Given the description of an element on the screen output the (x, y) to click on. 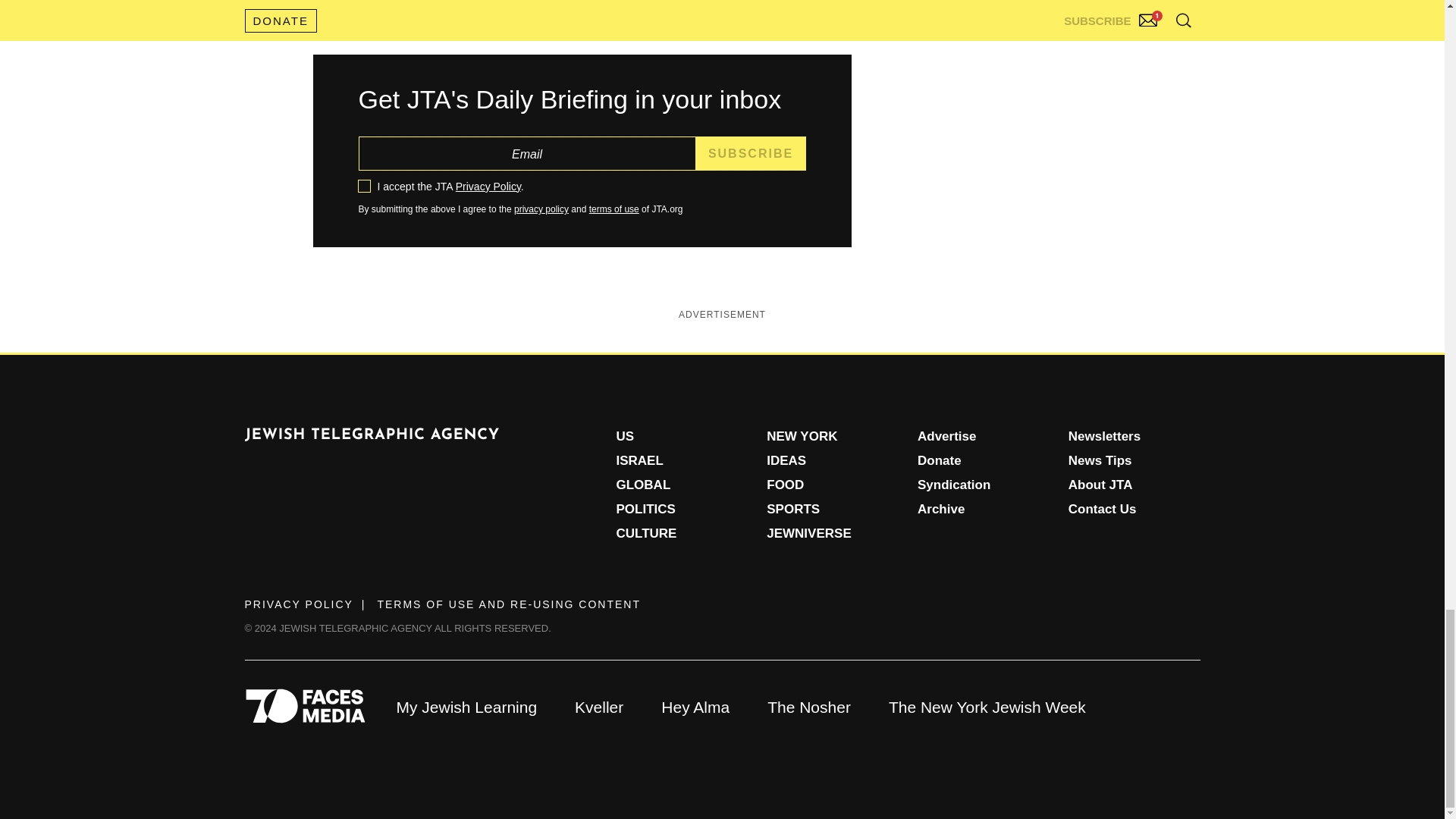
Subscribe (750, 153)
